Given the description of an element on the screen output the (x, y) to click on. 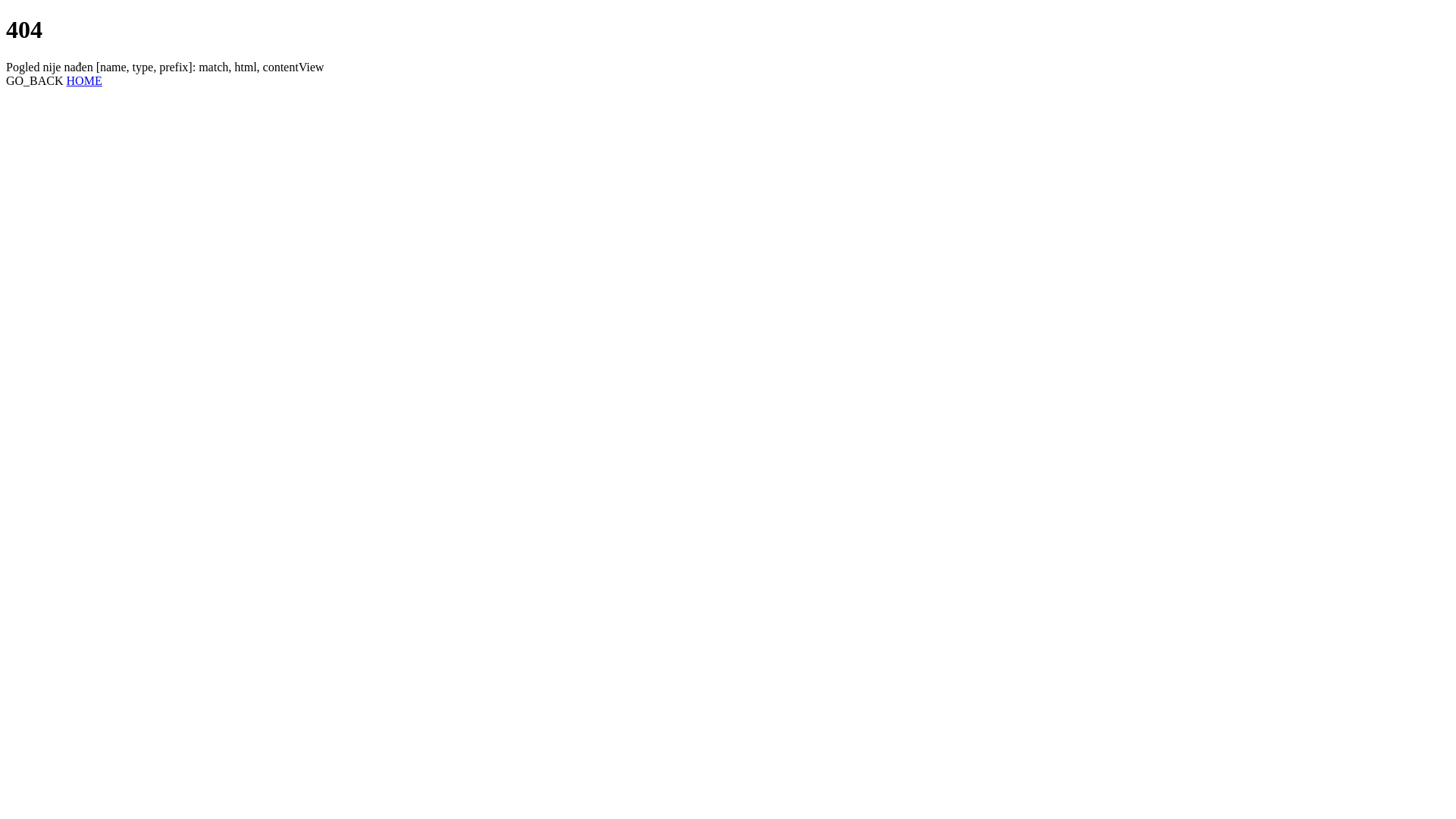
HOME Element type: text (84, 80)
